Given the description of an element on the screen output the (x, y) to click on. 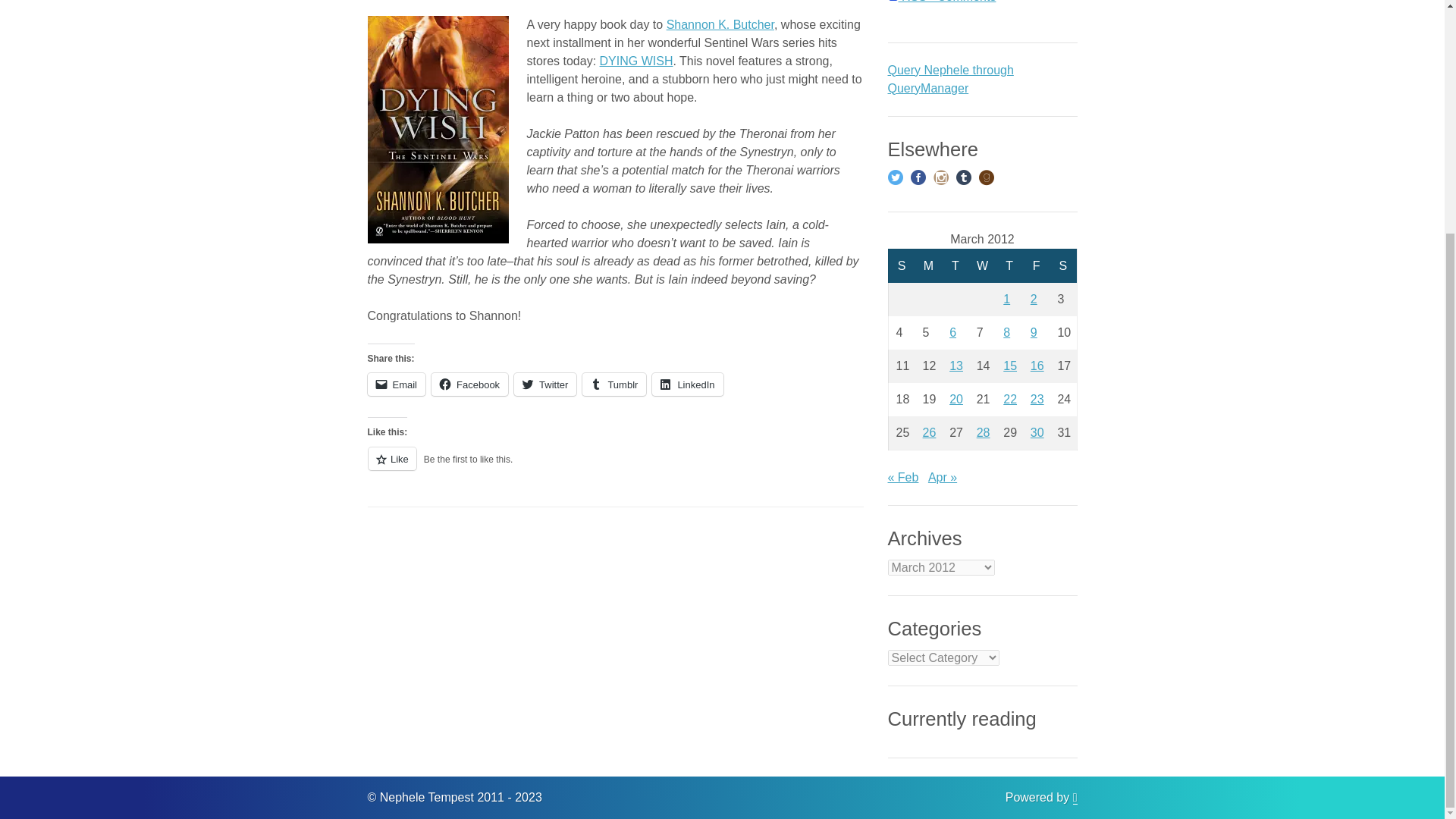
 RSS - Comments (940, 1)
9 (1033, 332)
Twitter (544, 384)
DYING WISH (635, 60)
Subscribe to comments (940, 1)
6 (952, 332)
Click to share on Tumblr (614, 384)
Saturday (1063, 265)
16 (1036, 365)
Like or Reblog (614, 467)
26 (929, 431)
Click to share on Facebook (469, 384)
8 (1006, 332)
Tumblr (614, 384)
Friday (1036, 265)
